Given the description of an element on the screen output the (x, y) to click on. 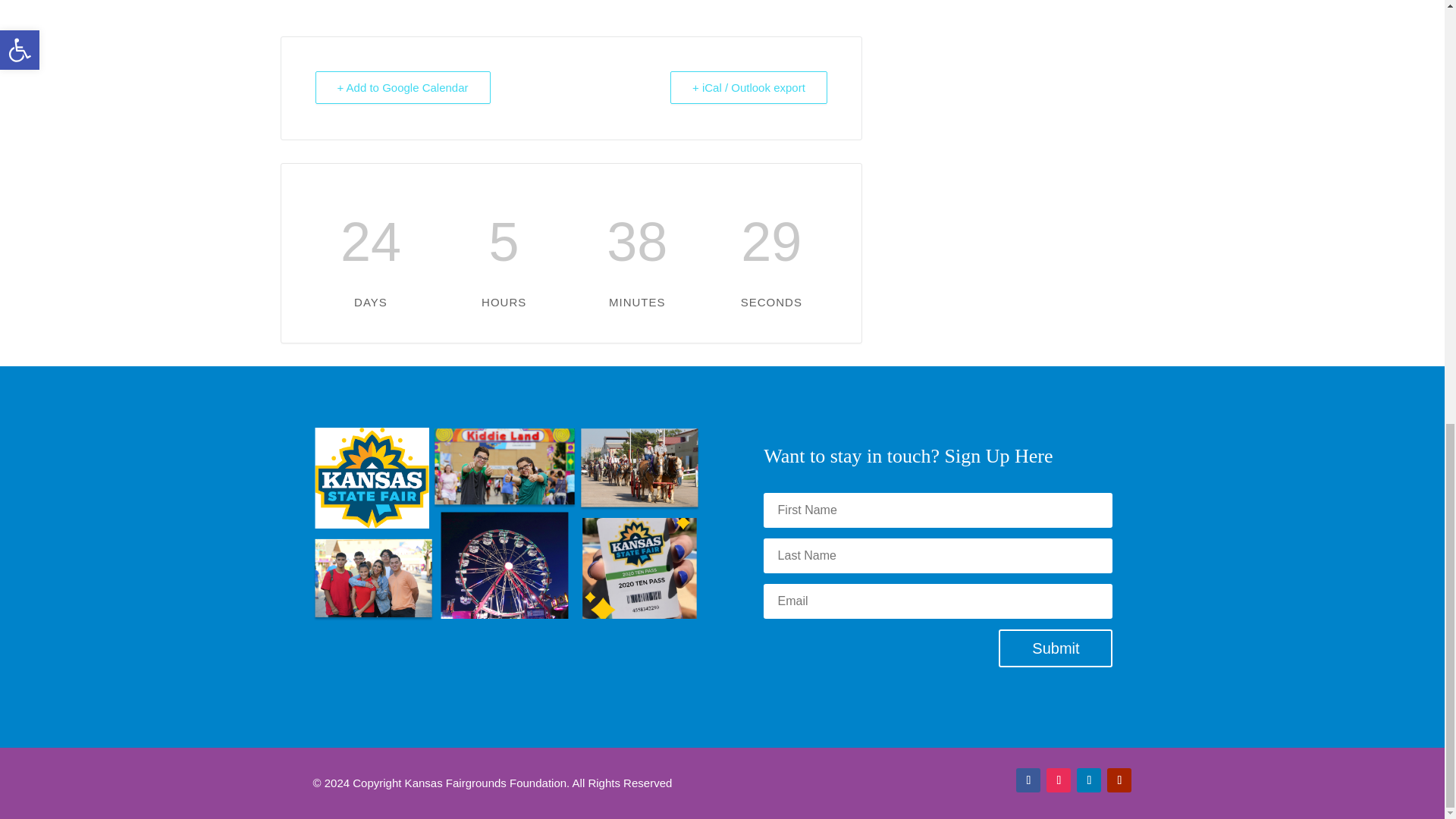
group-images (505, 523)
Follow on Youtube (1118, 780)
Follow on LinkedIn (1088, 780)
Follow on Facebook (1028, 780)
Follow on Instagram (1058, 780)
